Given the description of an element on the screen output the (x, y) to click on. 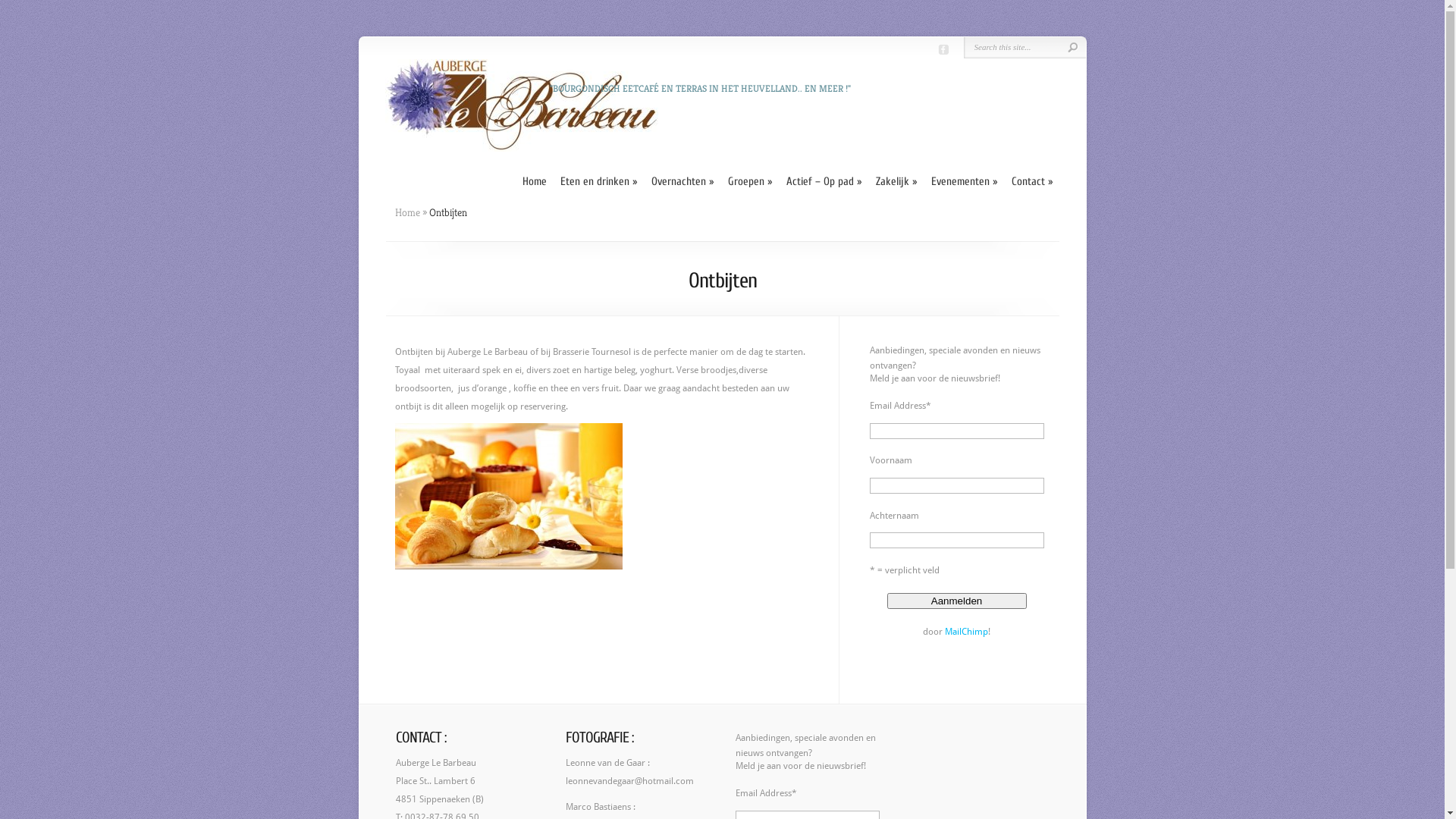
Contact Element type: text (1032, 181)
Aanmelden Element type: text (956, 600)
Home Element type: text (406, 212)
Groepen Element type: text (750, 181)
Eten en drinken Element type: text (598, 181)
Home Element type: text (533, 181)
Evenementen Element type: text (964, 181)
Zakelijk Element type: text (895, 181)
MailChimp Element type: text (966, 631)
Overnachten Element type: text (681, 181)
